Given the description of an element on the screen output the (x, y) to click on. 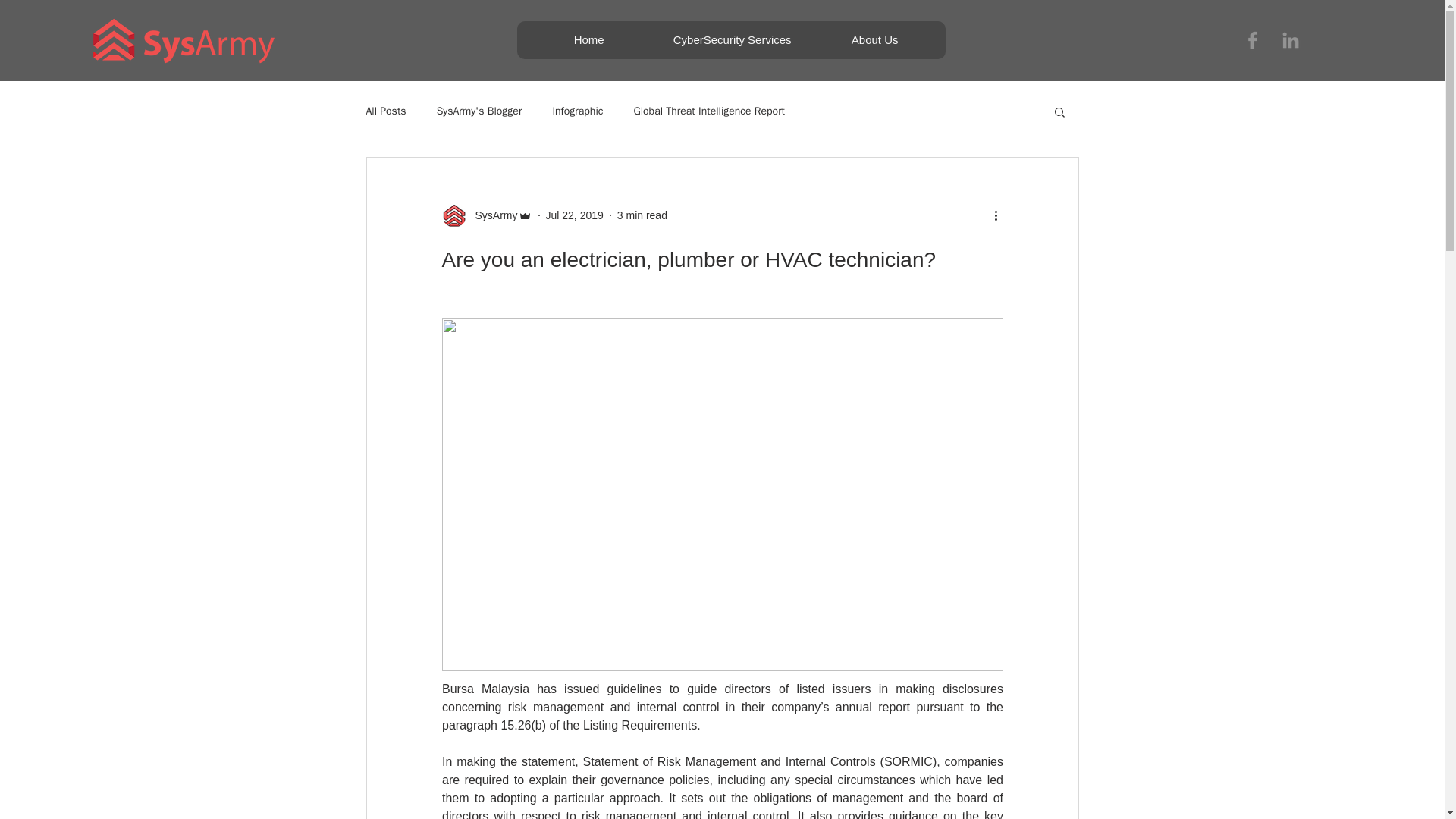
3 min read (641, 215)
CyberSecurity Services (732, 39)
SysArmy (490, 215)
SysArmy (486, 215)
Global Threat Intelligence Report (708, 110)
Infographic (576, 110)
Jul 22, 2019 (575, 215)
SysArmy's Blogger (479, 110)
About Us (873, 39)
Home (588, 39)
All Posts (385, 110)
